Given the description of an element on the screen output the (x, y) to click on. 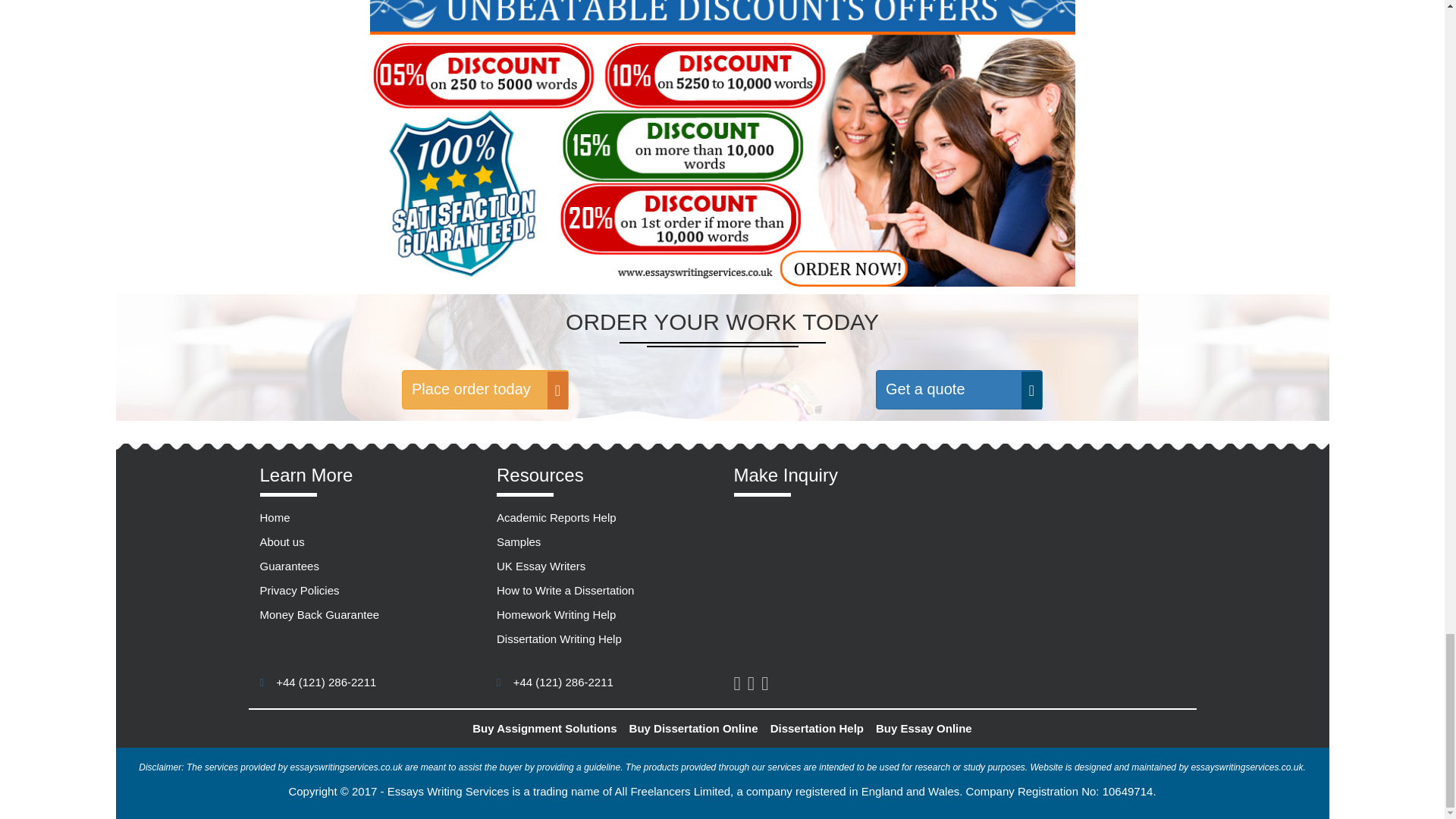
Get a quote (959, 389)
Home (274, 517)
Place order today (485, 389)
About us (281, 541)
